Given the description of an element on the screen output the (x, y) to click on. 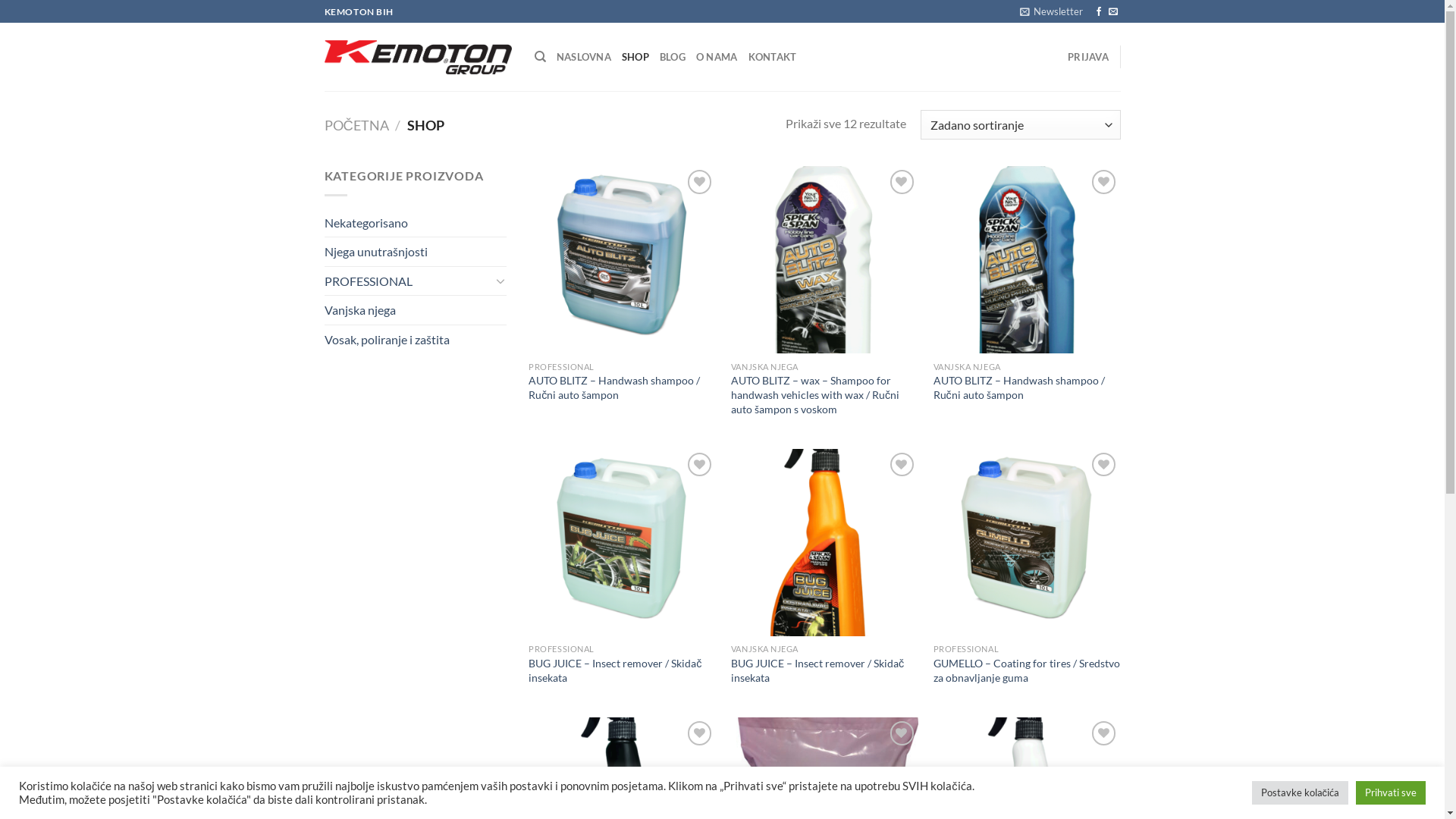
O NAMA Element type: text (716, 56)
KONTAKT Element type: text (772, 56)
Newsletter Element type: text (1050, 11)
Nekategorisano Element type: text (415, 222)
SHOP Element type: text (635, 56)
BLOG Element type: text (672, 56)
PROFESSIONAL Element type: text (407, 280)
NASLOVNA Element type: text (583, 56)
Prihvati sve Element type: text (1390, 792)
Vanjska njega Element type: text (415, 309)
Kemoton BiH - House of Brands Element type: hover (417, 56)
PRIJAVA Element type: text (1087, 56)
